Given the description of an element on the screen output the (x, y) to click on. 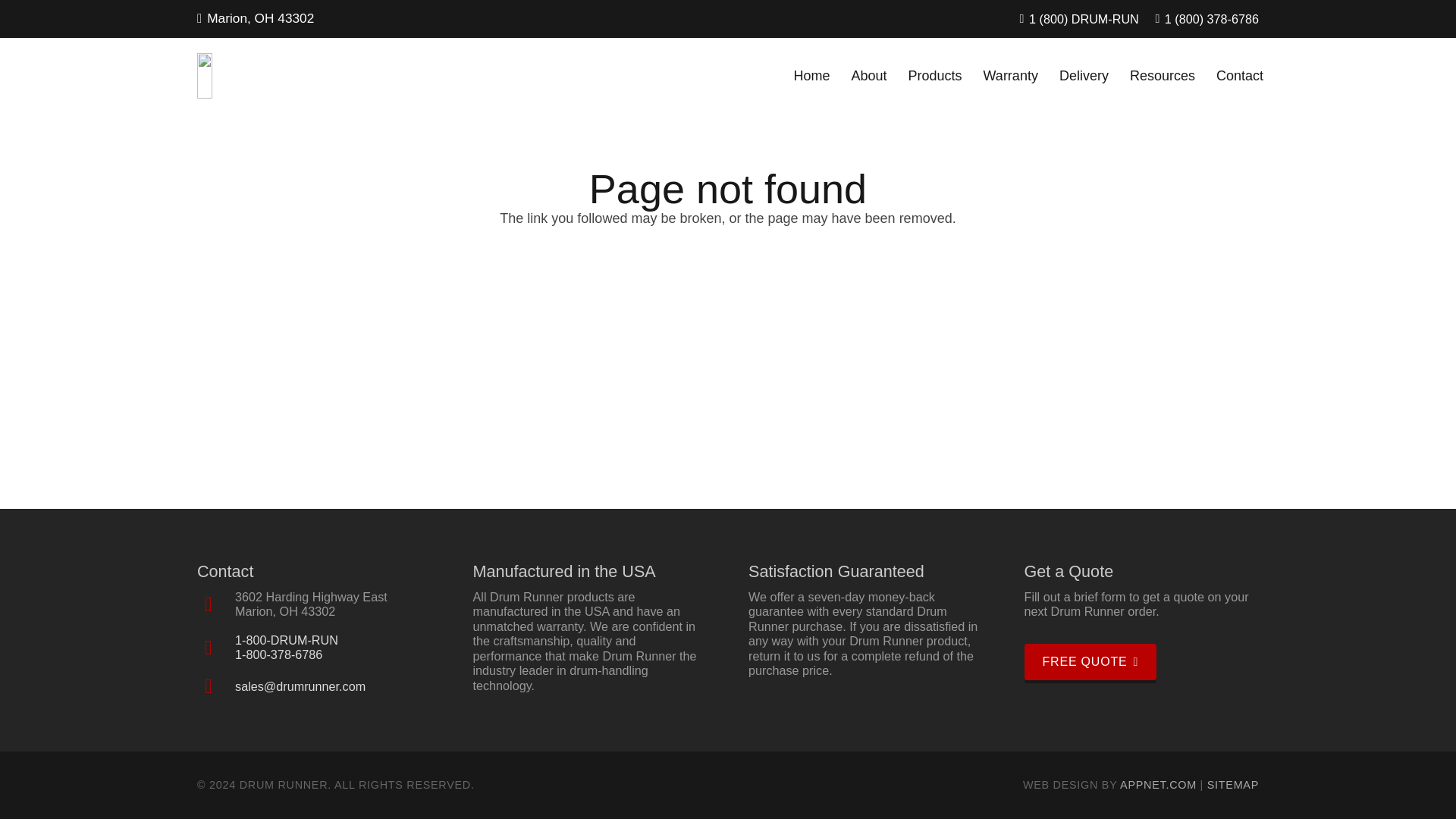
Resources (1162, 75)
Warranty (1010, 75)
Products (935, 75)
Marion, OH 43302 (255, 17)
1-800-DRUM-RUN (285, 640)
SITEMAP (1233, 784)
1-800-378-6786 (277, 653)
Contact (1239, 75)
Delivery (1083, 75)
APPNET.COM (1157, 784)
FREE QUOTE (1089, 661)
